Given the description of an element on the screen output the (x, y) to click on. 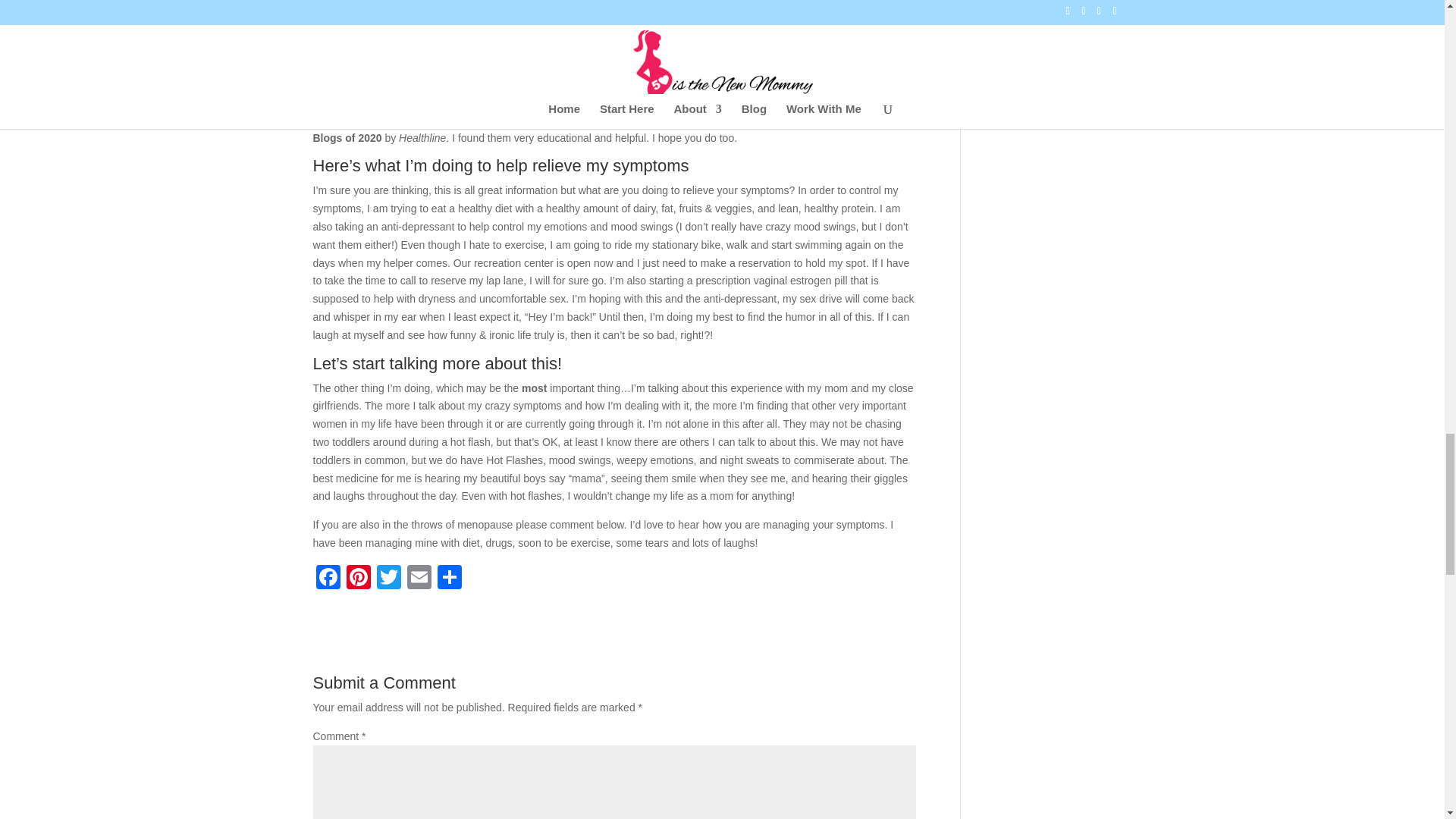
Email (418, 578)
Share (448, 578)
Facebook (327, 578)
menopause (547, 101)
Twitter (387, 578)
Email (418, 578)
Pinterest (357, 578)
Facebook (327, 578)
Pinterest (357, 578)
Twitter (387, 578)
